Given the description of an element on the screen output the (x, y) to click on. 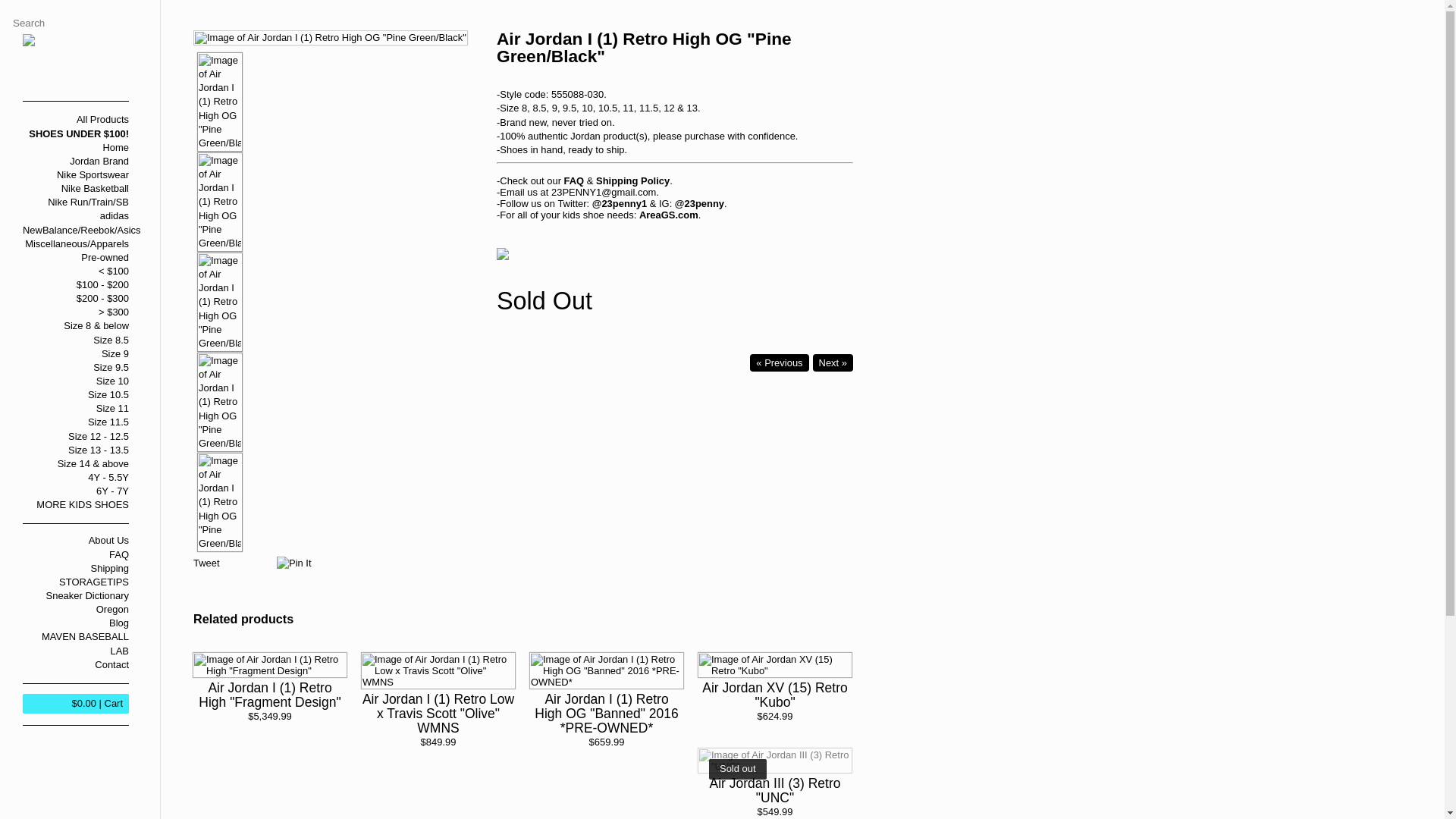
SHOES UNDER $100! Element type: text (75, 134)
$0.00 | Cart Element type: text (75, 703)
Nike Basketball Element type: text (75, 188)
Tweet Element type: text (206, 562)
Pre-owned Element type: text (75, 257)
Size 9.5 Element type: text (75, 367)
Oregon Element type: text (75, 609)
Blog Element type: text (75, 623)
@23penny Element type: text (699, 203)
Size 10 Element type: text (75, 381)
Size 8.5 Element type: text (75, 340)
Air Jordan I (1) Retro High "Fragment Design"
$5,349.99 Element type: text (269, 694)
AreaGS.com Element type: text (668, 214)
$100 - $200 Element type: text (75, 284)
FAQ Element type: text (75, 554)
Size 13 - 13.5 Element type: text (75, 450)
Contact Element type: text (75, 664)
Size 14 & above Element type: text (75, 463)
Home Element type: text (75, 147)
Shipping Element type: text (75, 568)
Sneaker Dictionary Element type: text (75, 595)
$200 - $300 Element type: text (75, 298)
About Us Element type: text (75, 540)
@23penny1 Element type: text (619, 203)
Size 10.5 Element type: text (75, 394)
Size 8 & below Element type: text (75, 325)
Size 11.5 Element type: text (75, 422)
STORAGETIPS Element type: text (75, 582)
6Y - 7Y Element type: text (75, 491)
MAVEN BASEBALL LAB Element type: text (75, 643)
Size 12 - 12.5 Element type: text (75, 436)
adidas Element type: text (75, 215)
Miscellaneous/Apparels Element type: text (75, 244)
MORE KIDS SHOES Element type: text (75, 504)
> $300 Element type: text (75, 312)
< $100 Element type: text (75, 271)
Jordan Brand Element type: text (75, 161)
FAQ Element type: text (574, 180)
Nike Sportswear Element type: text (75, 175)
All Products Element type: text (75, 119)
Air Jordan XV (15) Retro "Kubo"
$624.99 Element type: text (774, 694)
Size 11 Element type: text (75, 408)
NewBalance/Reebok/Asics Element type: text (75, 229)
Go Element type: text (151, 22)
Pin It Element type: hover (293, 563)
Shipping Policy Element type: text (632, 180)
Size 9 Element type: text (75, 353)
Nike Run/Train/SB Element type: text (75, 202)
4Y - 5.5Y Element type: text (75, 477)
